Given the description of an element on the screen output the (x, y) to click on. 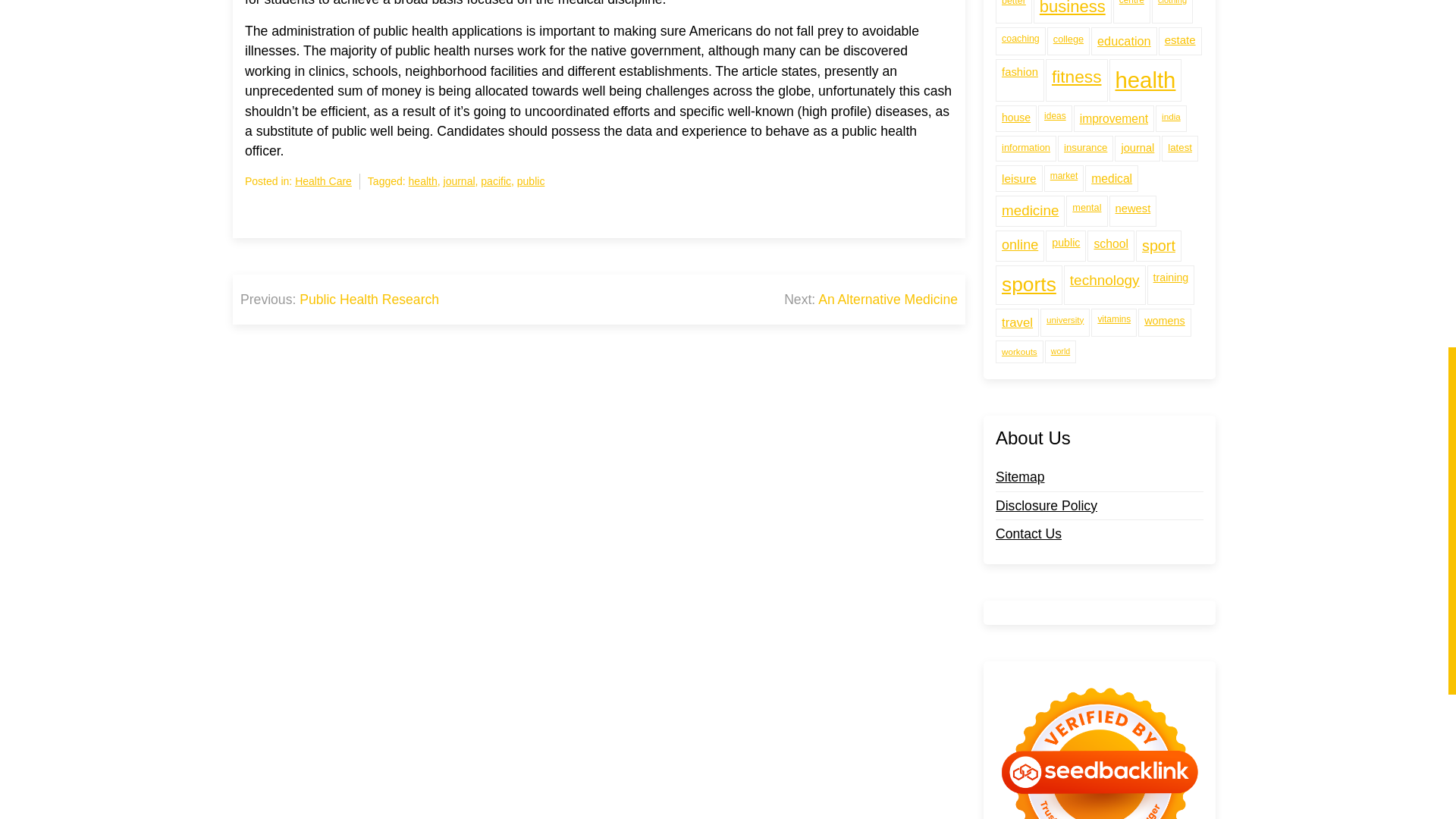
Next: An Alternative Medicine (871, 299)
college (1067, 9)
Health Care (323, 181)
health (423, 181)
coaching (1020, 9)
pacific (495, 181)
journal (460, 181)
Seedbacklink (1099, 728)
Previous: Public Health Research (339, 299)
public (530, 181)
